Given the description of an element on the screen output the (x, y) to click on. 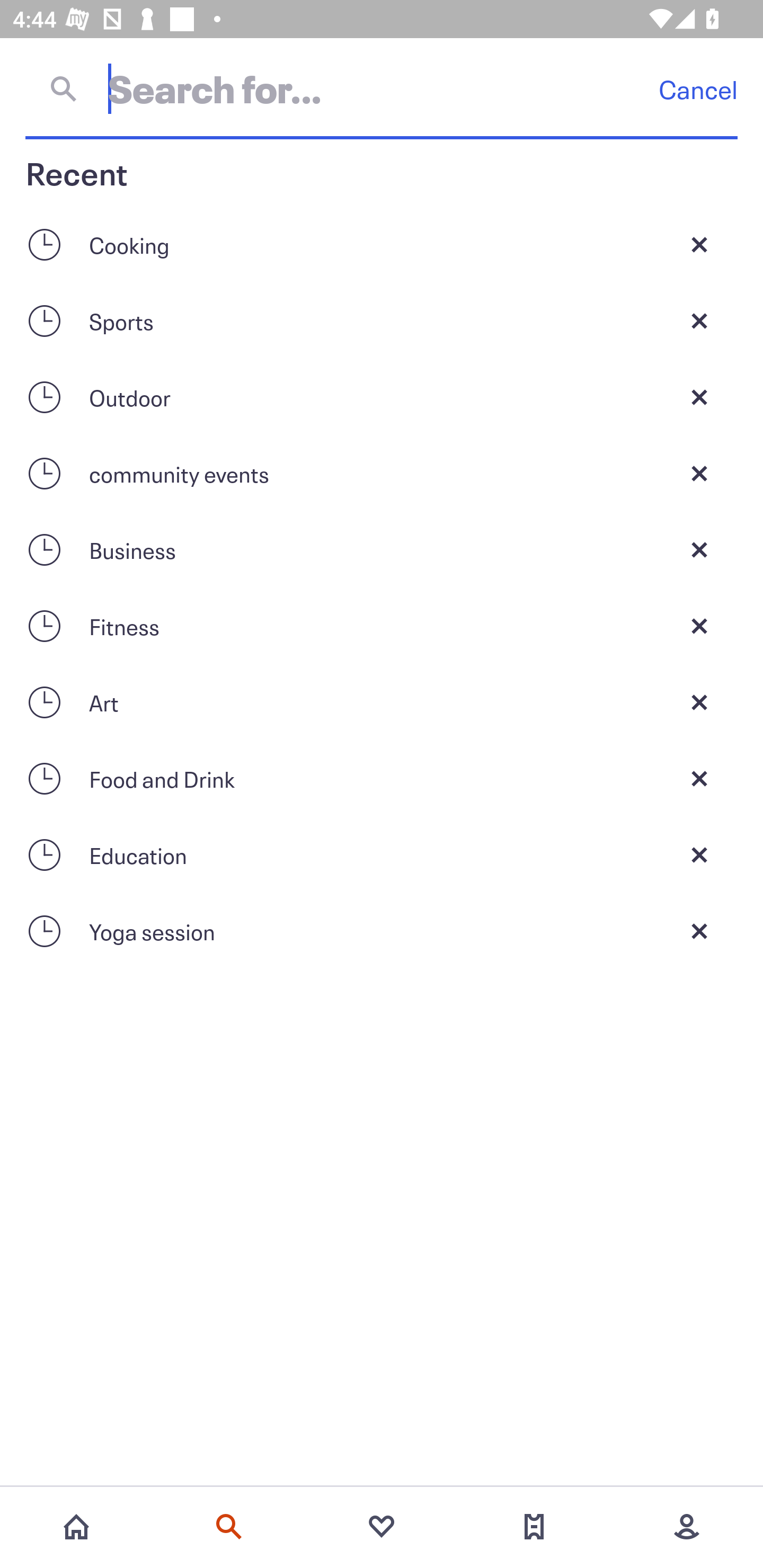
Cancel Search for… (381, 88)
Cancel (697, 89)
Cooking Close current screen (381, 244)
Close current screen (699, 244)
Sports Close current screen (381, 320)
Close current screen (699, 320)
Outdoor Close current screen (381, 397)
Close current screen (699, 397)
community events Close current screen (381, 473)
Close current screen (699, 473)
Business Close current screen (381, 549)
Close current screen (699, 549)
Fitness Close current screen (381, 626)
Close current screen (699, 626)
Art Close current screen (381, 702)
Close current screen (699, 702)
Food and Drink Close current screen (381, 778)
Close current screen (699, 778)
Education Close current screen (381, 854)
Close current screen (699, 854)
Yoga session Close current screen (381, 931)
Close current screen (699, 931)
Home (76, 1526)
Search events (228, 1526)
Favorites (381, 1526)
Tickets (533, 1526)
More (686, 1526)
